Given the description of an element on the screen output the (x, y) to click on. 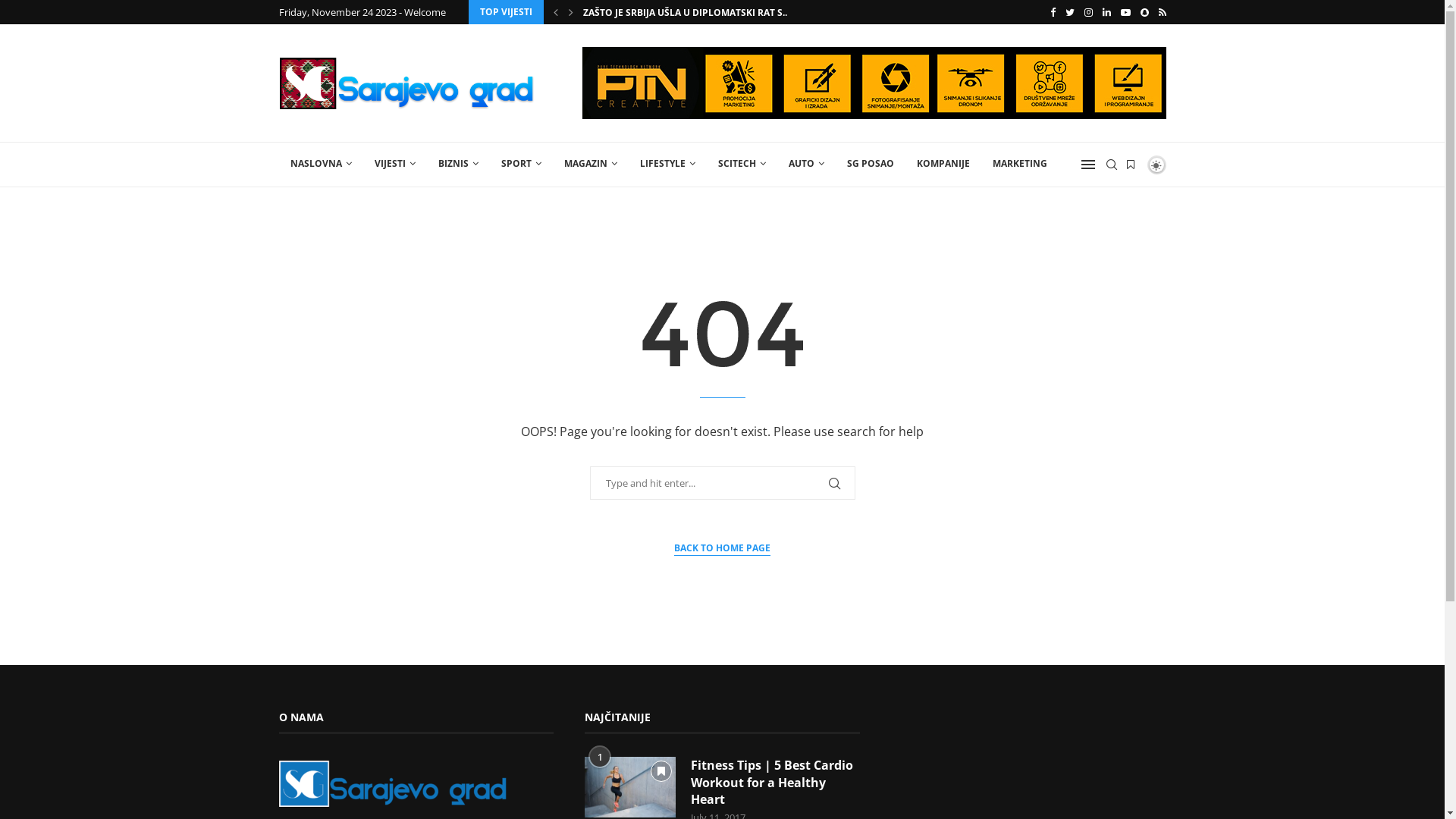
Bookmark Element type: hover (1129, 164)
SCITECH Element type: text (741, 164)
Search Element type: text (34, 15)
VIJESTI Element type: text (394, 164)
BIZNIS Element type: text (457, 164)
KOMPANIJE Element type: text (943, 164)
MAGAZIN Element type: text (589, 164)
MARKETING Element type: text (1019, 164)
AUTO Element type: text (805, 164)
BACK TO HOME PAGE Element type: text (722, 548)
SPORT Element type: text (520, 164)
NASLOVNA Element type: text (321, 164)
SG POSAO Element type: text (870, 164)
Fitness Tips | 5 Best Cardio Workout for a Healthy Heart Element type: text (774, 781)
Bookmark Element type: text (660, 770)
LIFESTYLE Element type: text (666, 164)
Fitness Tips | 5 Best Cardio Workout for a Healthy Heart Element type: hover (629, 786)
